Given the description of an element on the screen output the (x, y) to click on. 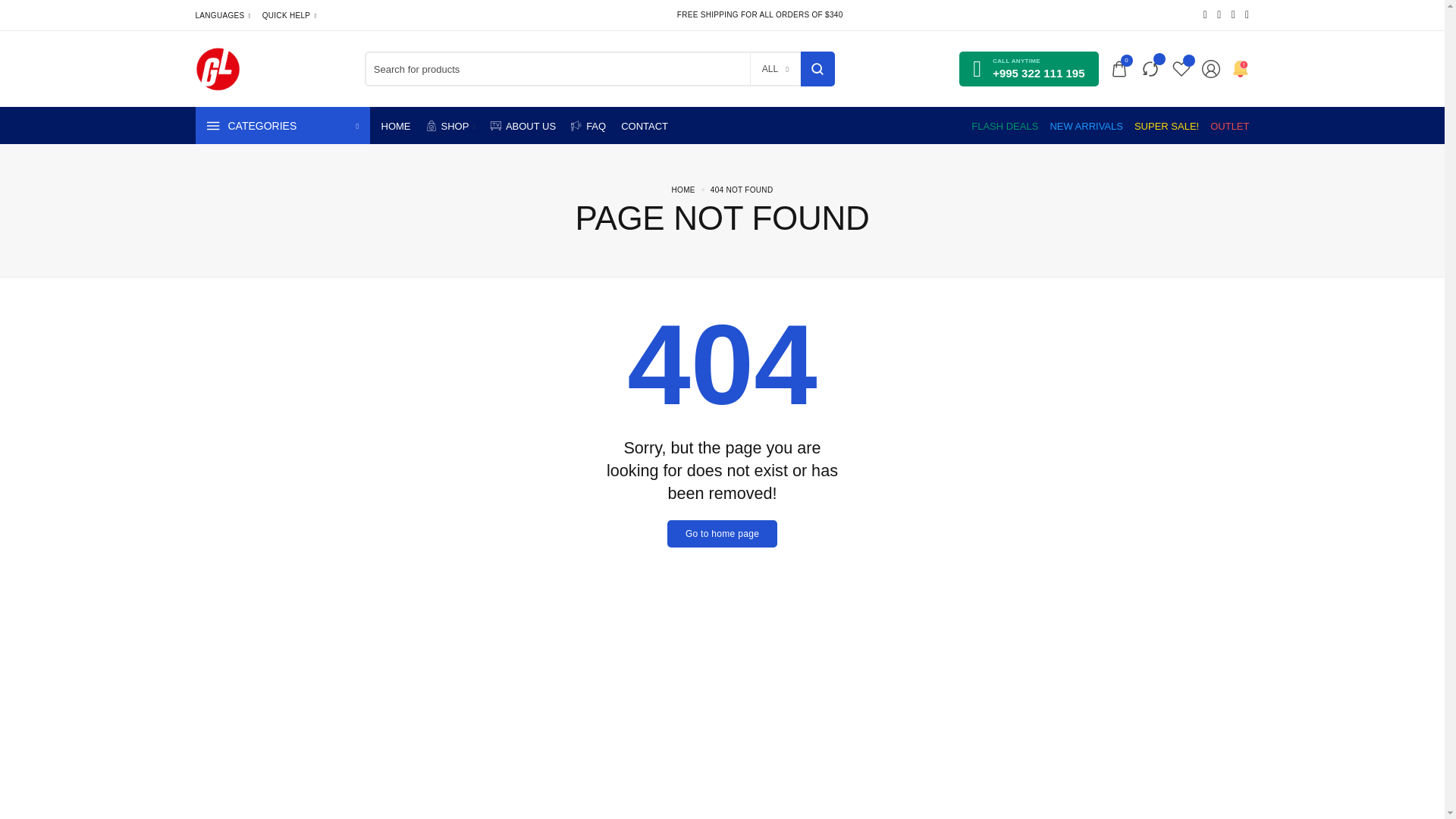
Search for products (817, 68)
